Given the description of an element on the screen output the (x, y) to click on. 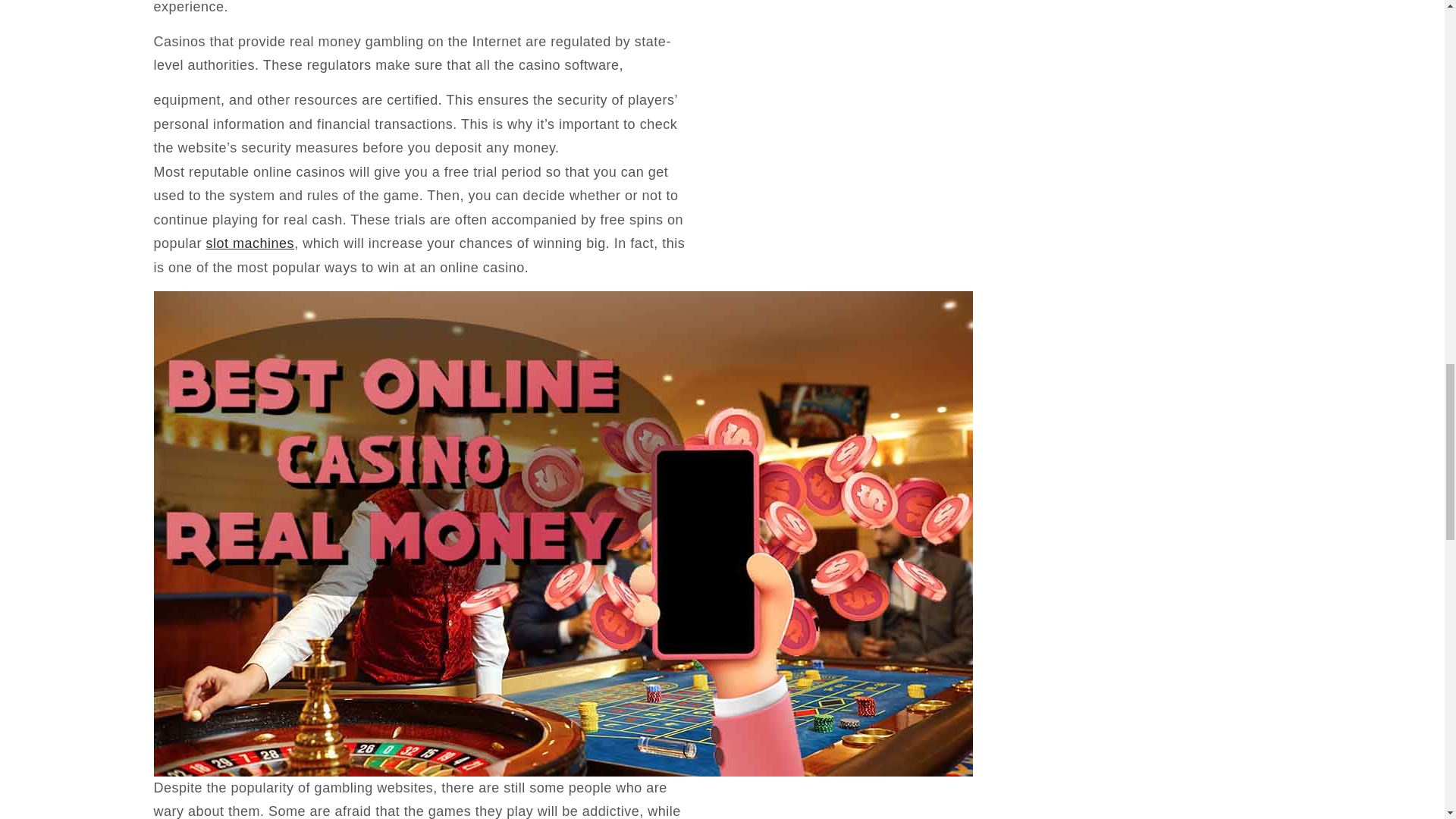
slot machines (250, 242)
